Given the description of an element on the screen output the (x, y) to click on. 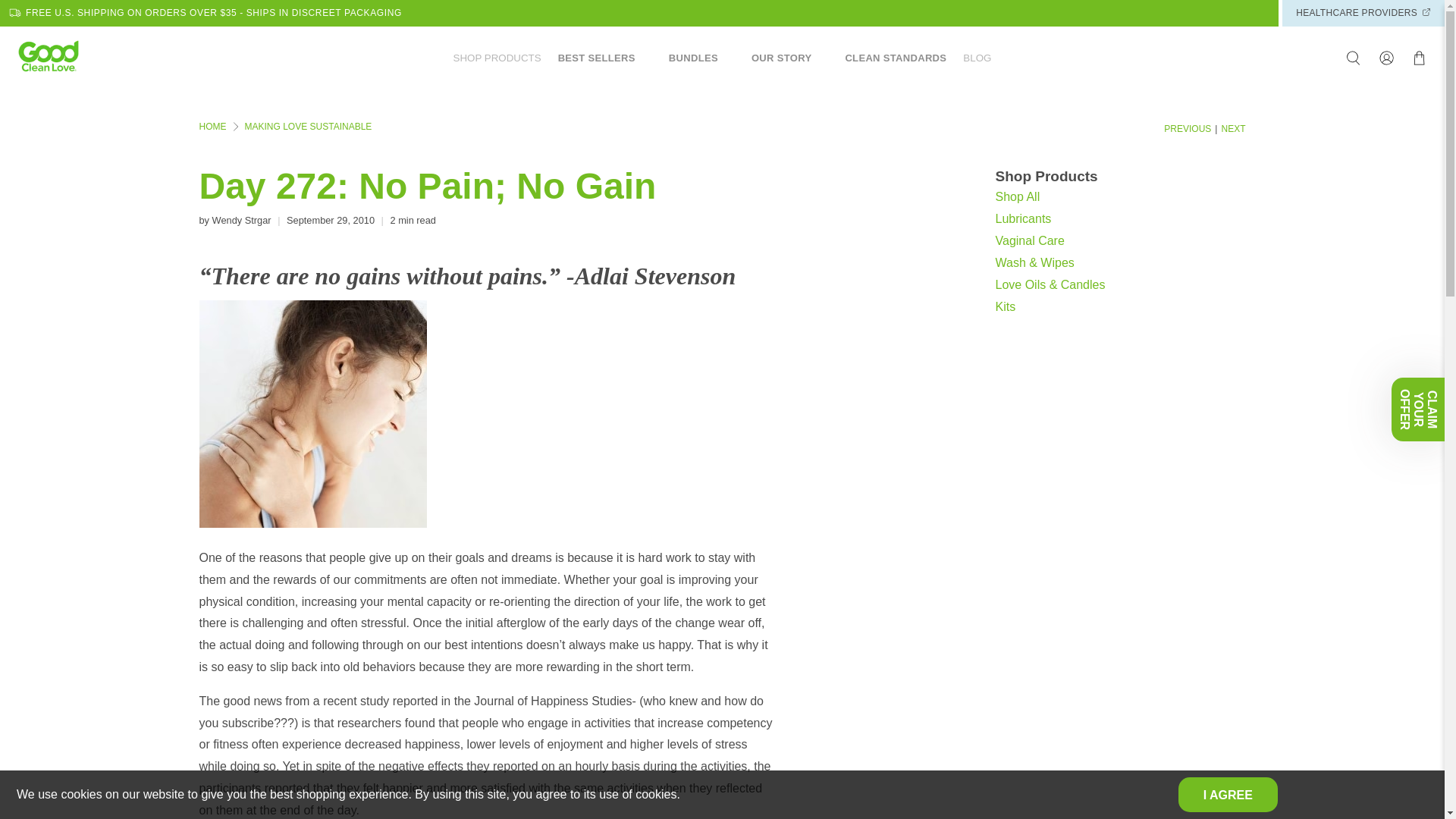
Shop All (1016, 195)
SHOP PRODUCTS (496, 57)
Kits (1004, 306)
Lubricants (1022, 218)
Vaginal Care (1029, 239)
Good Clean Love (211, 126)
Previous (1187, 128)
Next (1232, 128)
Making Love Sustainable (307, 126)
